Given the description of an element on the screen output the (x, y) to click on. 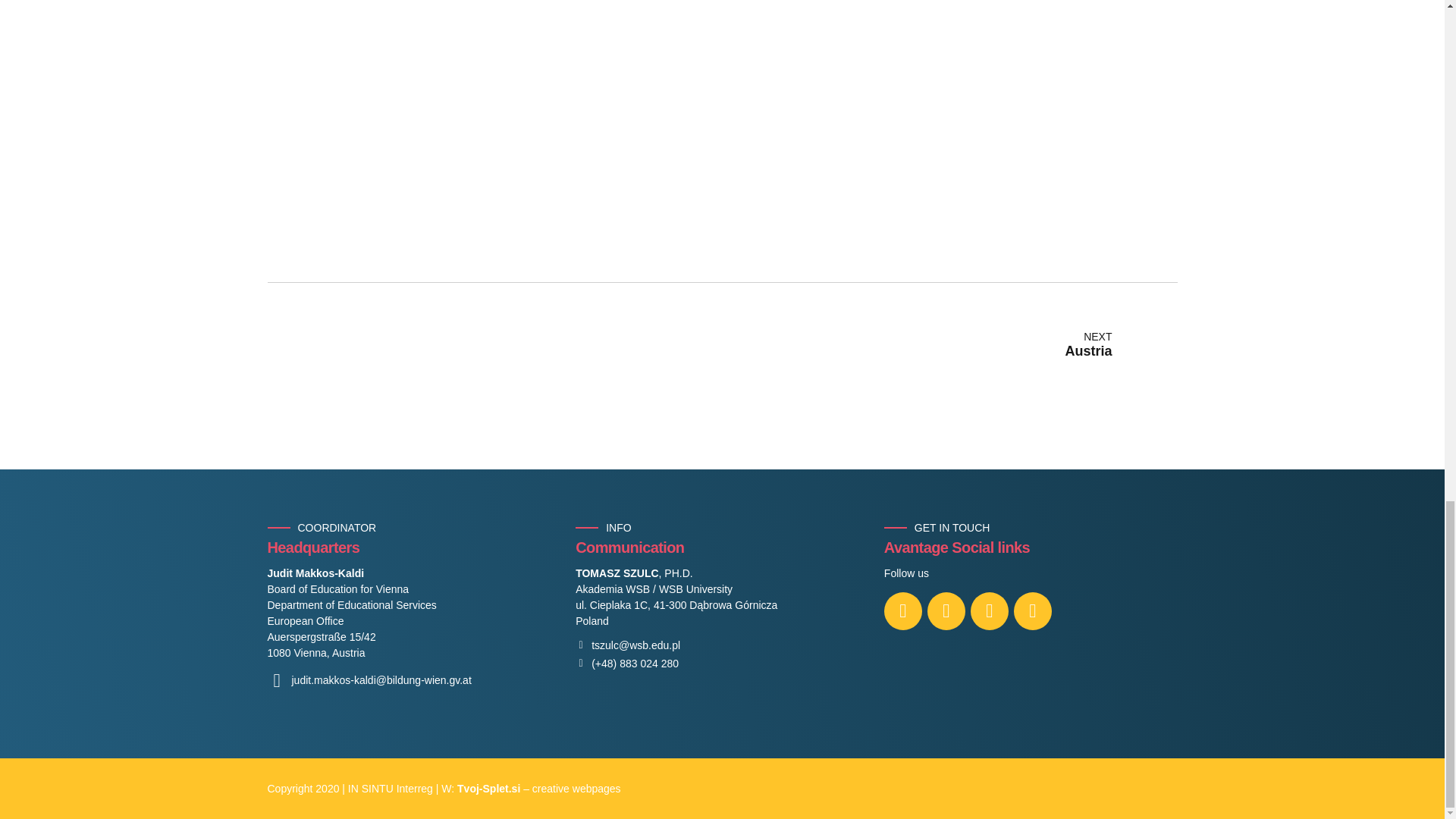
croatia-bottom (949, 345)
